Given the description of an element on the screen output the (x, y) to click on. 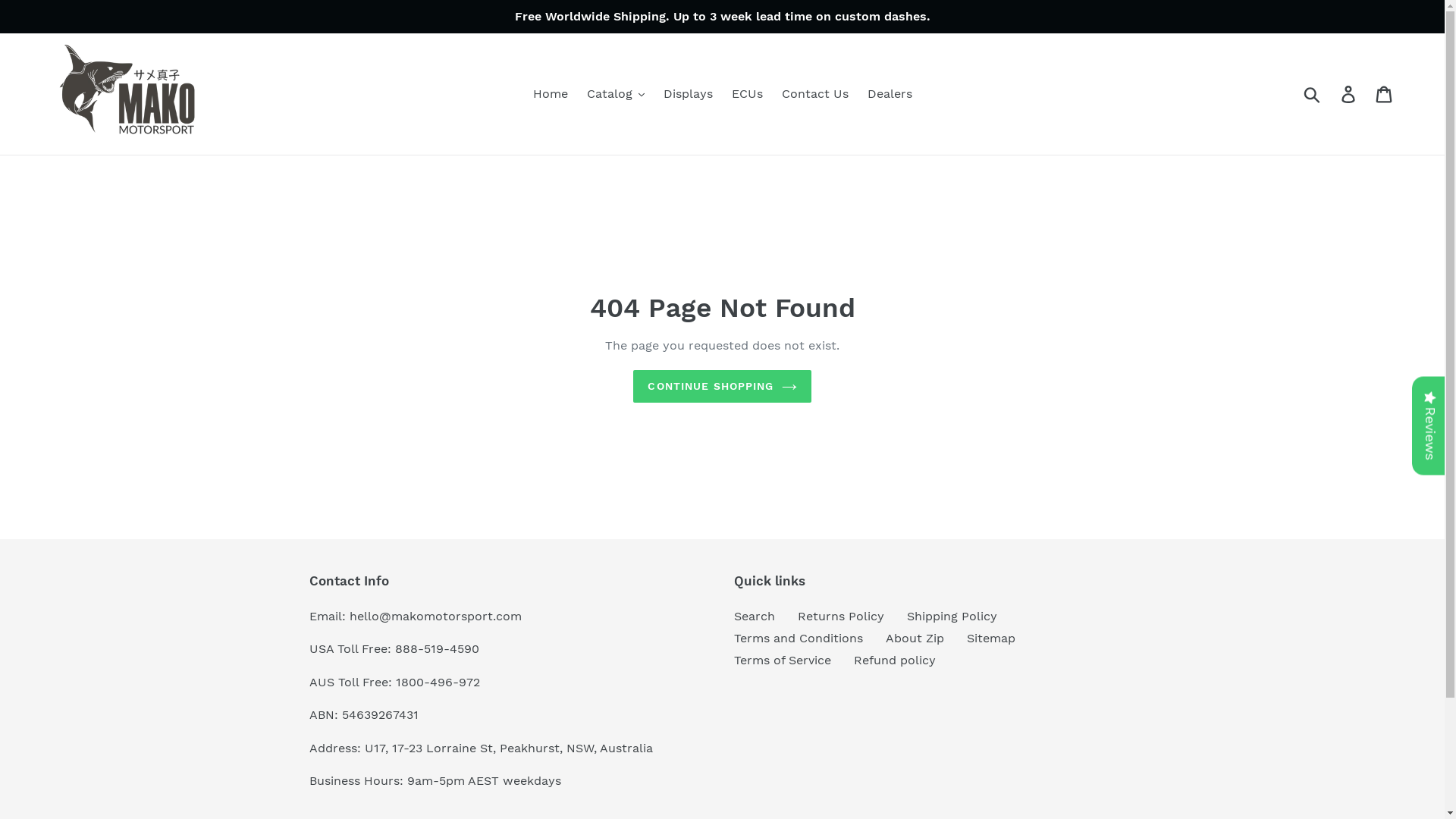
Log in Element type: text (1349, 94)
Terms and Conditions Element type: text (798, 637)
Shipping Policy Element type: text (951, 615)
CONTINUE SHOPPING Element type: text (721, 386)
Dealers Element type: text (889, 93)
Cart Element type: text (1384, 94)
Displays Element type: text (687, 93)
ECUs Element type: text (746, 93)
Returns Policy Element type: text (840, 615)
Refund policy Element type: text (894, 659)
Search Element type: text (754, 615)
Submit Element type: text (1312, 93)
Contact Us Element type: text (814, 93)
Sitemap Element type: text (990, 637)
Terms of Service Element type: text (782, 659)
Home Element type: text (549, 93)
About Zip Element type: text (914, 637)
